Given the description of an element on the screen output the (x, y) to click on. 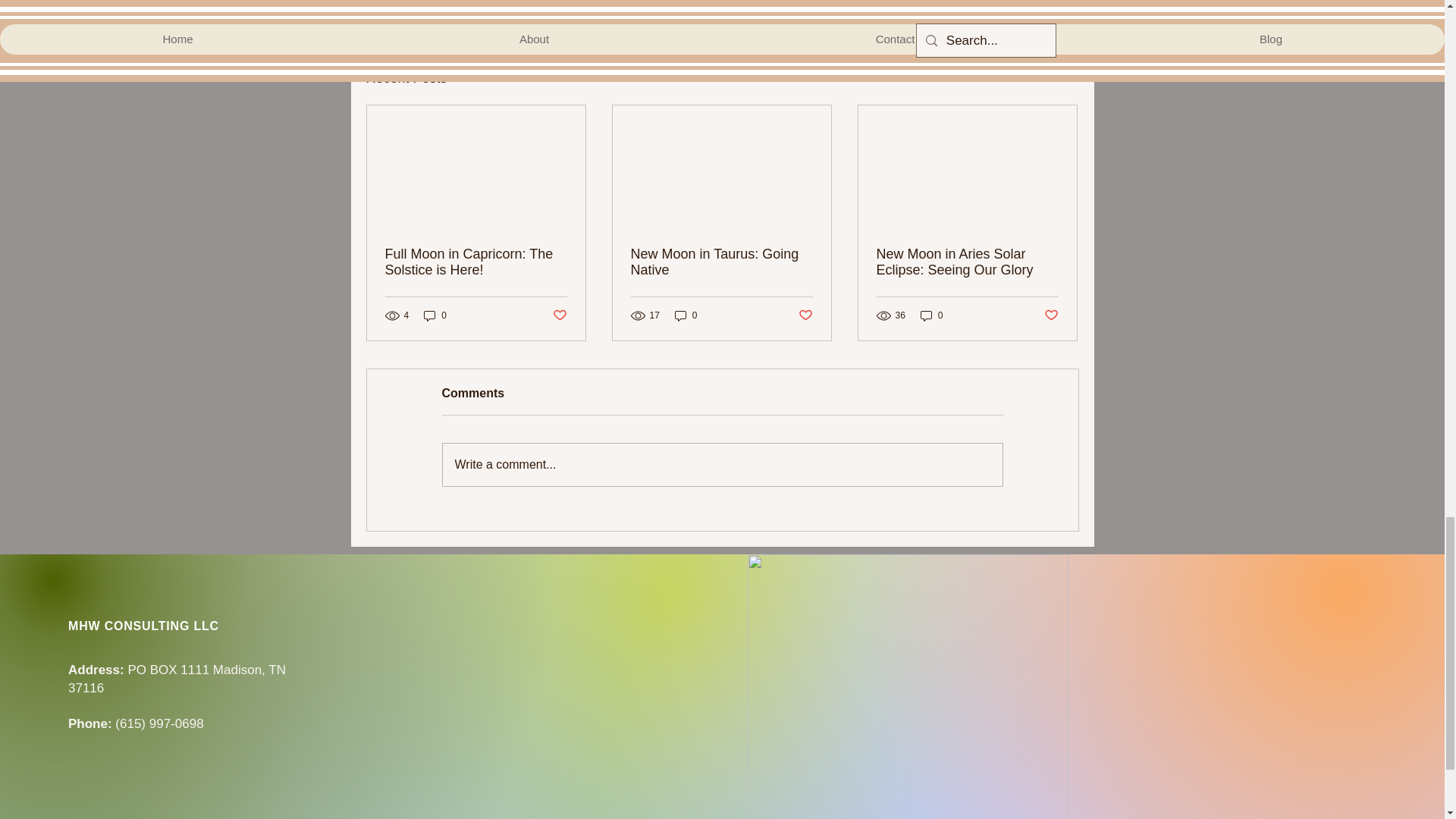
New Moon in Aries Solar Eclipse: Seeing Our Glory (967, 262)
0 (931, 314)
Post not marked as liked (804, 315)
Post not marked as liked (1050, 315)
White on Transparent.png (908, 686)
New Moon in Taurus: Going Native (721, 262)
Write a comment... (722, 464)
See All (1061, 78)
Post not marked as liked (995, 2)
0 (685, 314)
Full Moon in Capricorn: The Solstice is Here! (476, 262)
0 (435, 314)
Post not marked as liked (558, 315)
